Given the description of an element on the screen output the (x, y) to click on. 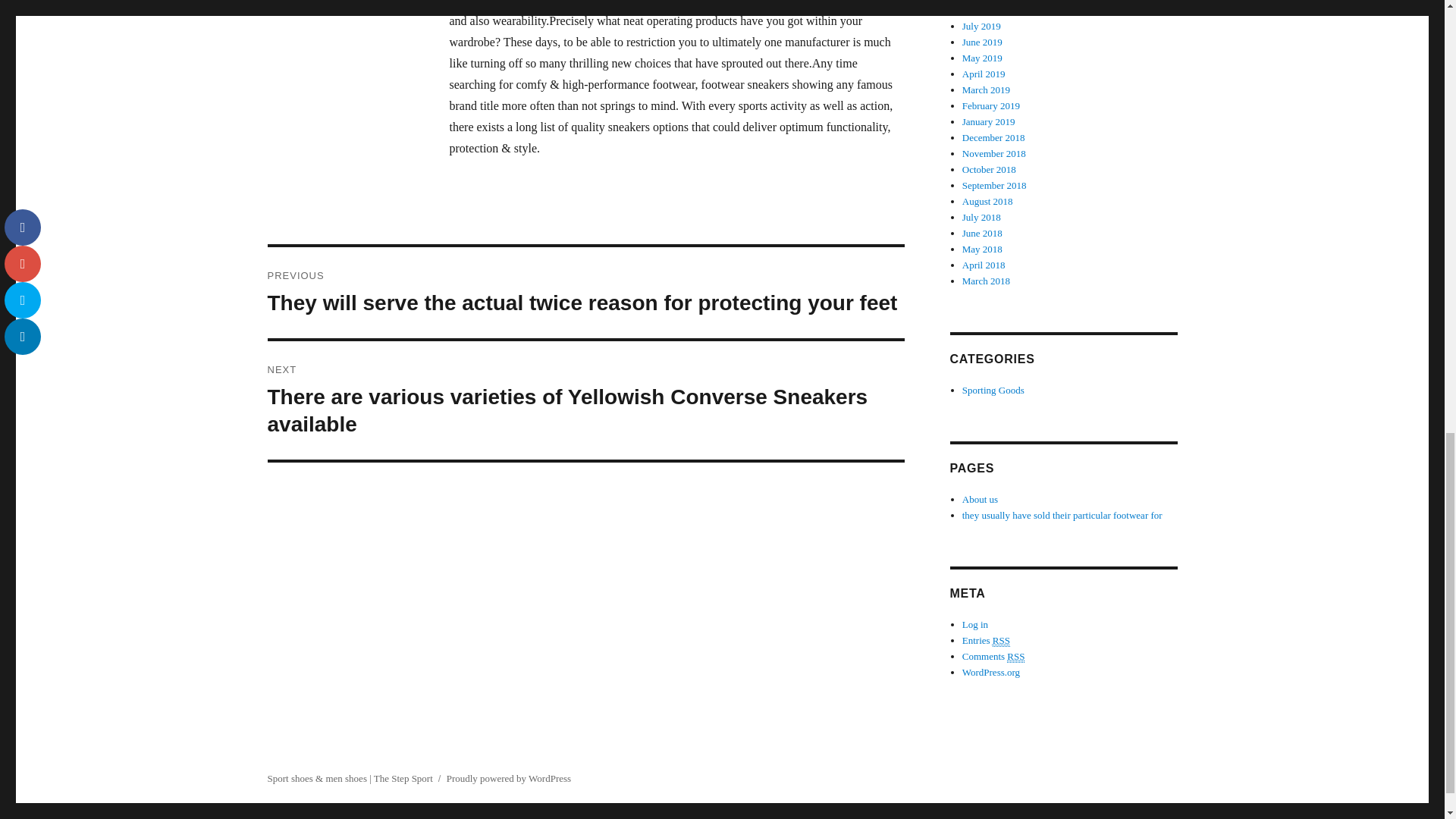
Really Simple Syndication (1001, 640)
Really Simple Syndication (1016, 656)
